Given the description of an element on the screen output the (x, y) to click on. 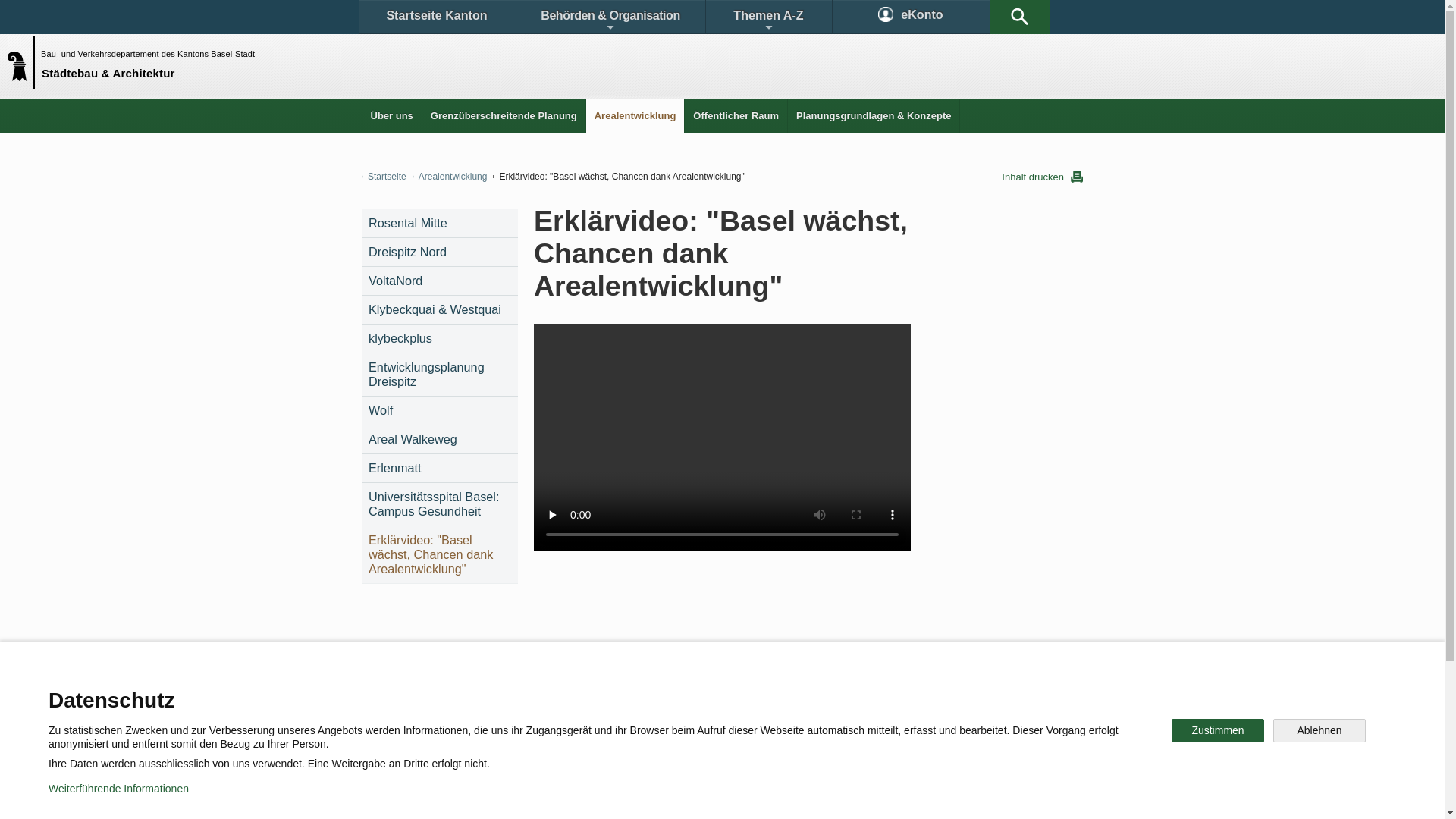
Bild & Multimedia Element type: text (1015, 693)
Startseite Kanton Element type: text (435, 17)
Twitter Element type: text (642, 746)
Zustimmen Element type: text (1217, 730)
Inhalt drucken Element type: text (1041, 176)
Areal Walkeweg Element type: text (439, 439)
Publikationen Element type: text (901, 693)
Gesetze Element type: text (703, 693)
Kontakt Element type: text (406, 693)
Erlenmatt Element type: text (439, 468)
eKonto Element type: text (910, 17)
Rosental Mitte Element type: text (439, 223)
Wolf Element type: text (439, 410)
Arealentwicklung Element type: text (449, 176)
Themen A-Z Element type: text (768, 17)
Zur mobilen Ansicht Element type: text (752, 796)
Dreispitz Nord Element type: text (439, 252)
Klybeckquai & Westquai Element type: text (439, 309)
Facebook Element type: text (547, 746)
Instagram Element type: text (738, 746)
Bewilligungen Element type: text (611, 693)
Statistiken Element type: text (794, 693)
Stadtplan & Karte Element type: text (504, 693)
Ablehnen Element type: text (1319, 730)
Impressum Element type: text (648, 796)
Entwicklungsplanung Dreispitz Element type: text (439, 374)
klybeckplus Element type: text (439, 338)
Nutzungsregelungen Element type: text (542, 796)
Planungsgrundlagen & Konzepte Element type: text (873, 115)
VoltaNord Element type: text (439, 280)
Arealentwicklung Element type: text (635, 115)
Startseite Element type: text (383, 176)
